Given the description of an element on the screen output the (x, y) to click on. 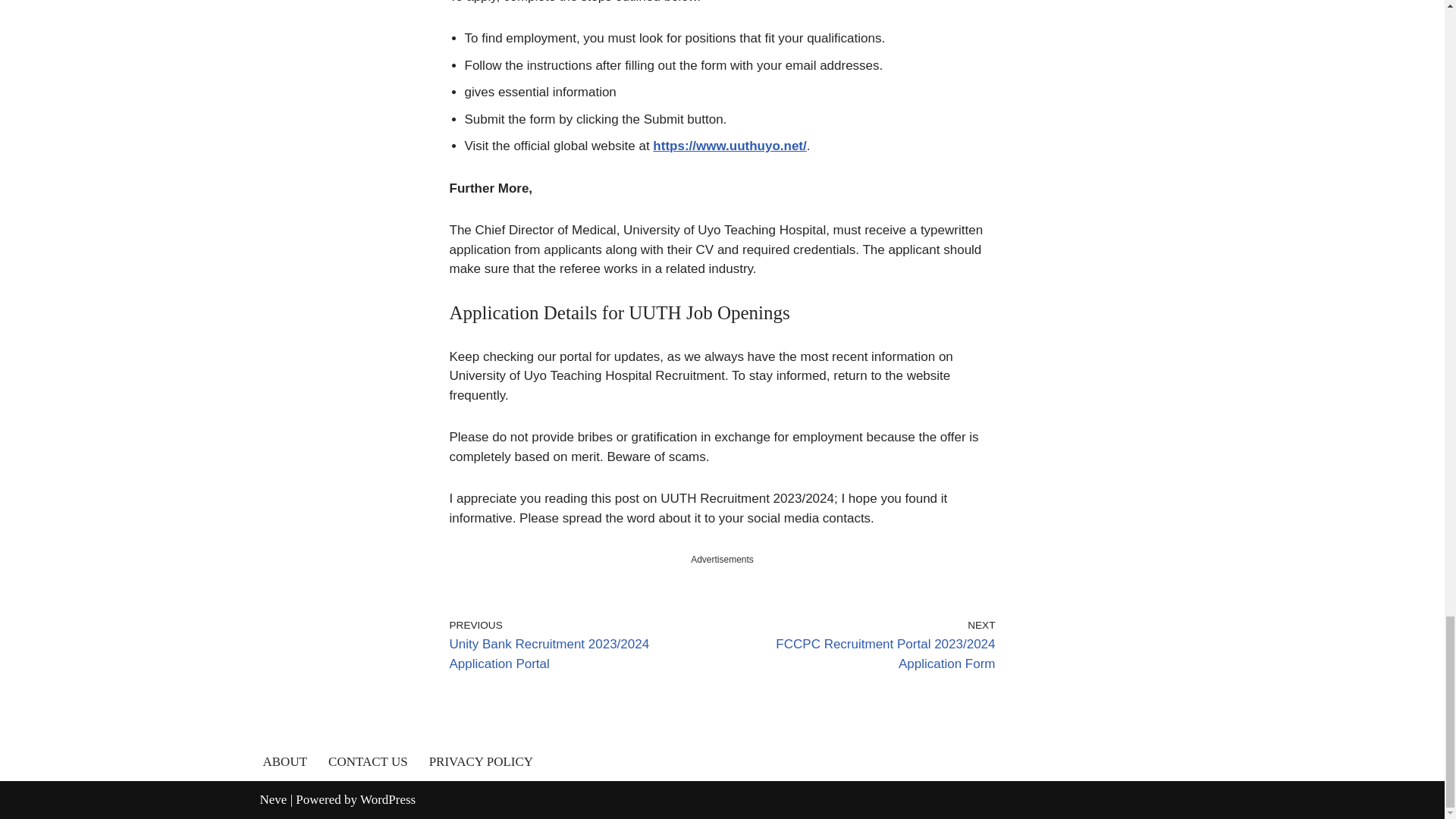
PRIVACY POLICY (480, 761)
Neve (272, 799)
ABOUT (284, 761)
CONTACT US (368, 761)
WordPress (386, 799)
